Given the description of an element on the screen output the (x, y) to click on. 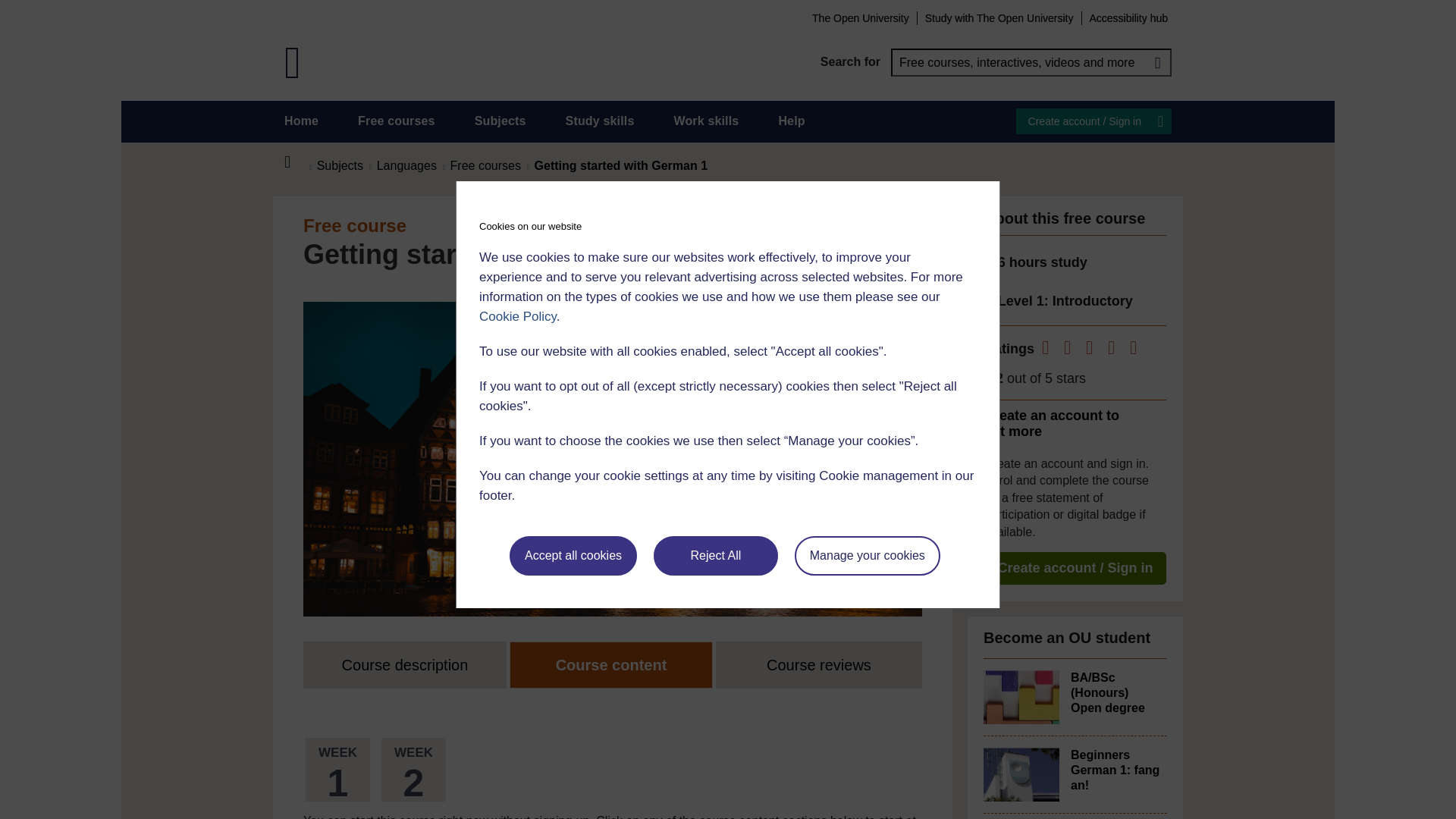
Work skills (705, 120)
Accessibility hub (1129, 17)
Accept all cookies (573, 555)
Search (1157, 62)
Cookie Policy (517, 316)
Free courses (396, 120)
Help (791, 120)
Home (300, 120)
Course content (611, 664)
Reject All (715, 555)
Study with The Open University (999, 17)
Course reviews (818, 664)
Study skills (600, 120)
Manage your cookies (867, 555)
